Given the description of an element on the screen output the (x, y) to click on. 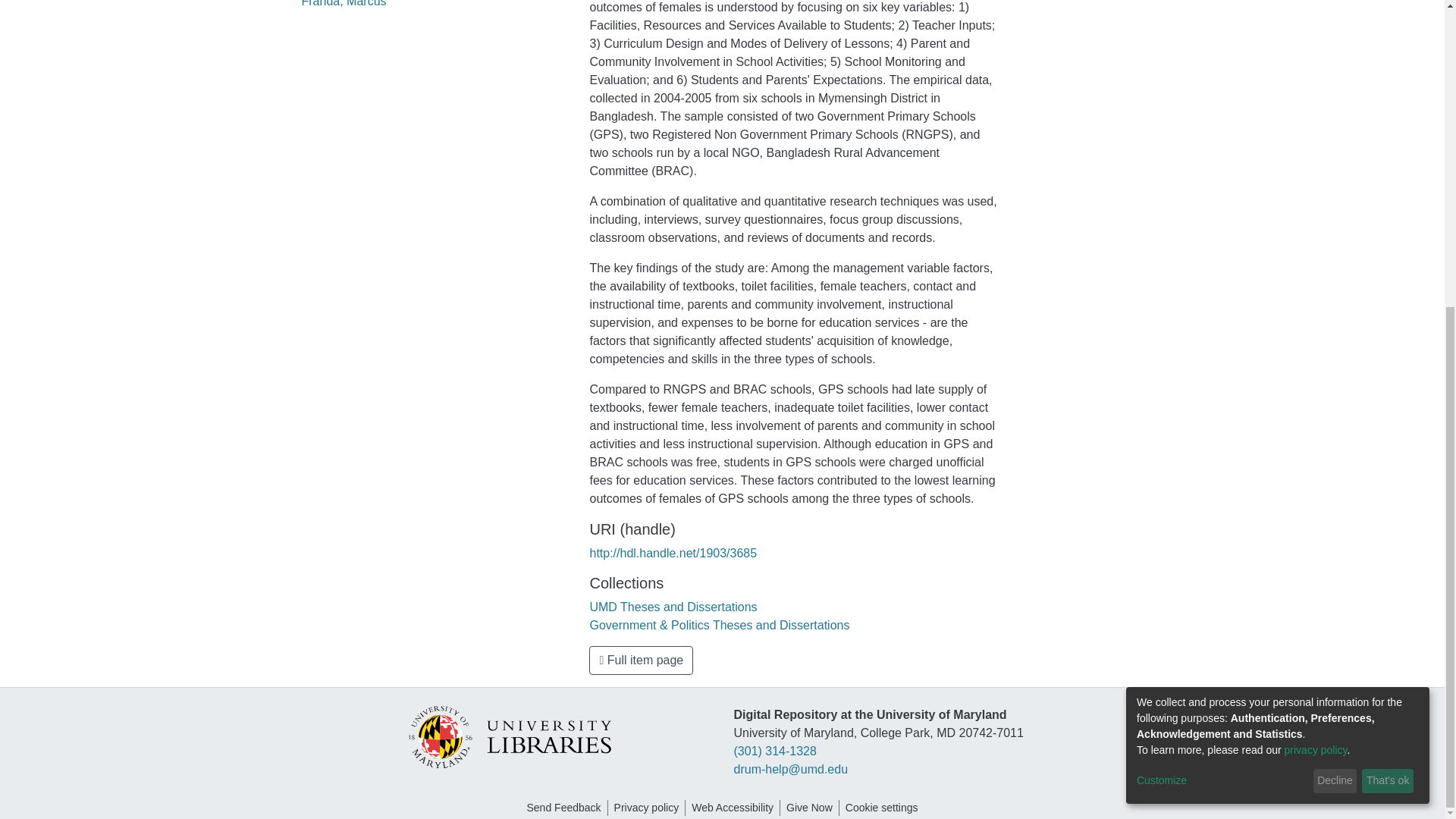
Cookie settings (882, 807)
privacy policy (1316, 265)
Franda, Marcus (344, 3)
Full item page (641, 660)
Send Feedback (563, 807)
Privacy policy (646, 807)
UMD Theses and Dissertations (673, 606)
Web Accessibility (731, 807)
Give Now (809, 807)
Libraries Home Page (508, 735)
Customize (1222, 295)
